Given the description of an element on the screen output the (x, y) to click on. 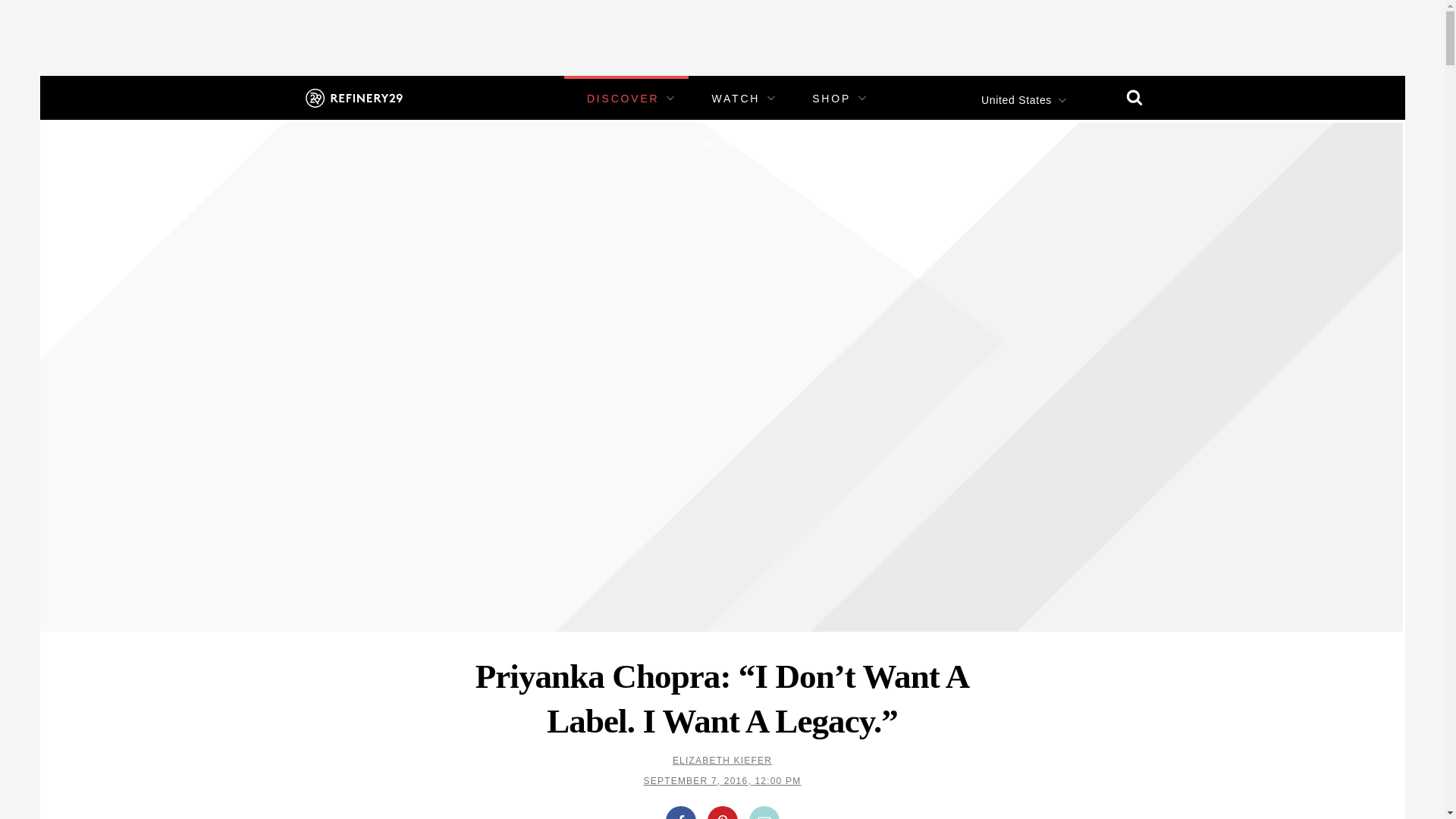
SEPTEMBER 7, 2016, 12:00 PM (722, 780)
Share by Email (763, 812)
DISCOVER (622, 98)
SHOP (831, 98)
WATCH (735, 98)
Share on Pinterest (721, 812)
ELIZABETH KIEFER (721, 760)
Refinery29 (352, 97)
